Given the description of an element on the screen output the (x, y) to click on. 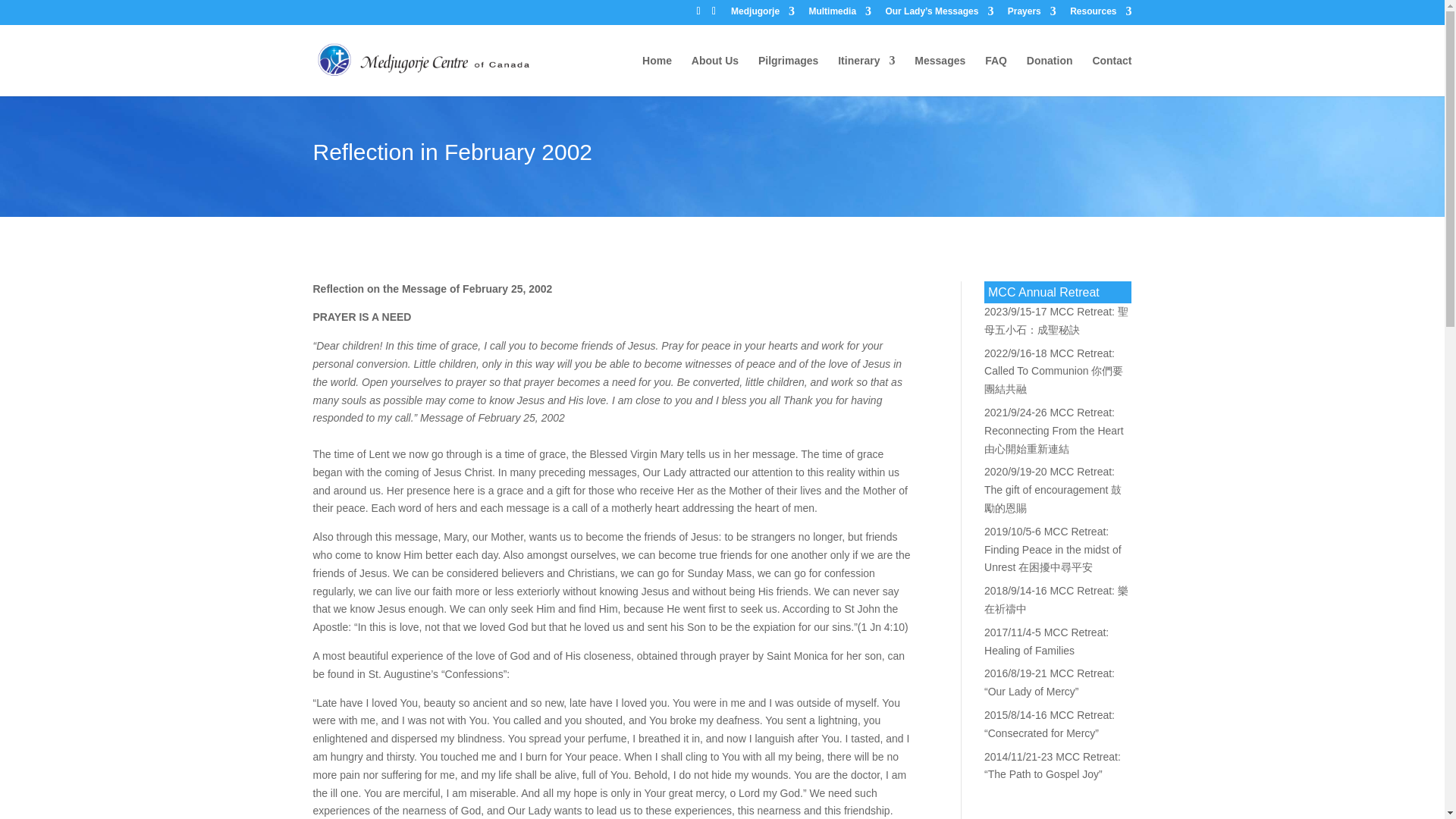
Resources (1100, 14)
Prayers (1032, 14)
Multimedia (839, 14)
Medjugorje (762, 14)
